Given the description of an element on the screen output the (x, y) to click on. 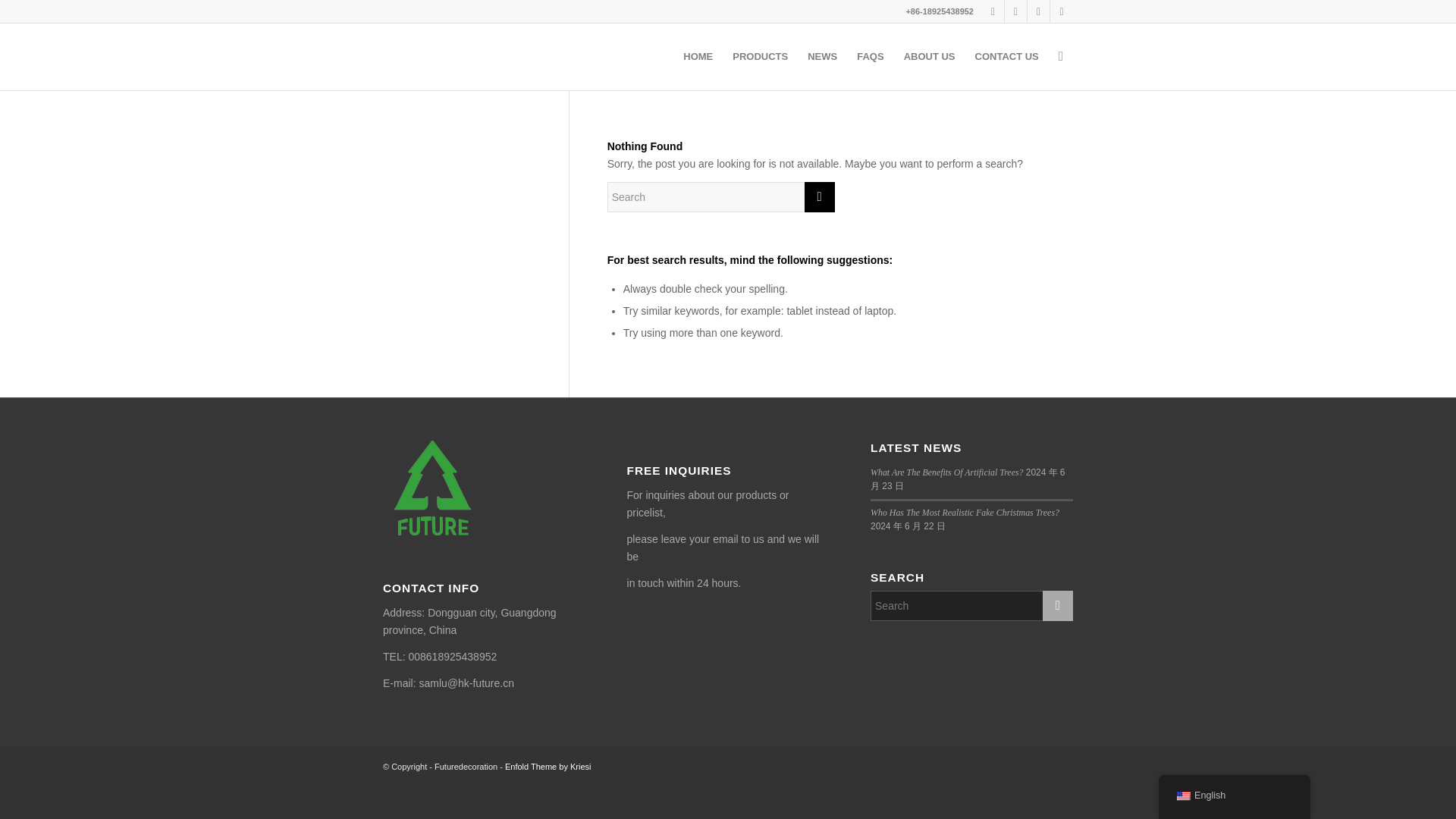
PRODUCTS (759, 56)
Enfold Theme by Kriesi (548, 766)
ABOUT US (929, 56)
What Are The Benefits Of Artificial Trees? (946, 471)
Who Has The Most Realistic Fake Christmas Trees? (964, 511)
Youtube (1061, 11)
Facebook (1038, 11)
LinkedIn (1015, 11)
CONTACT US (1006, 56)
Instagram (992, 11)
